Given the description of an element on the screen output the (x, y) to click on. 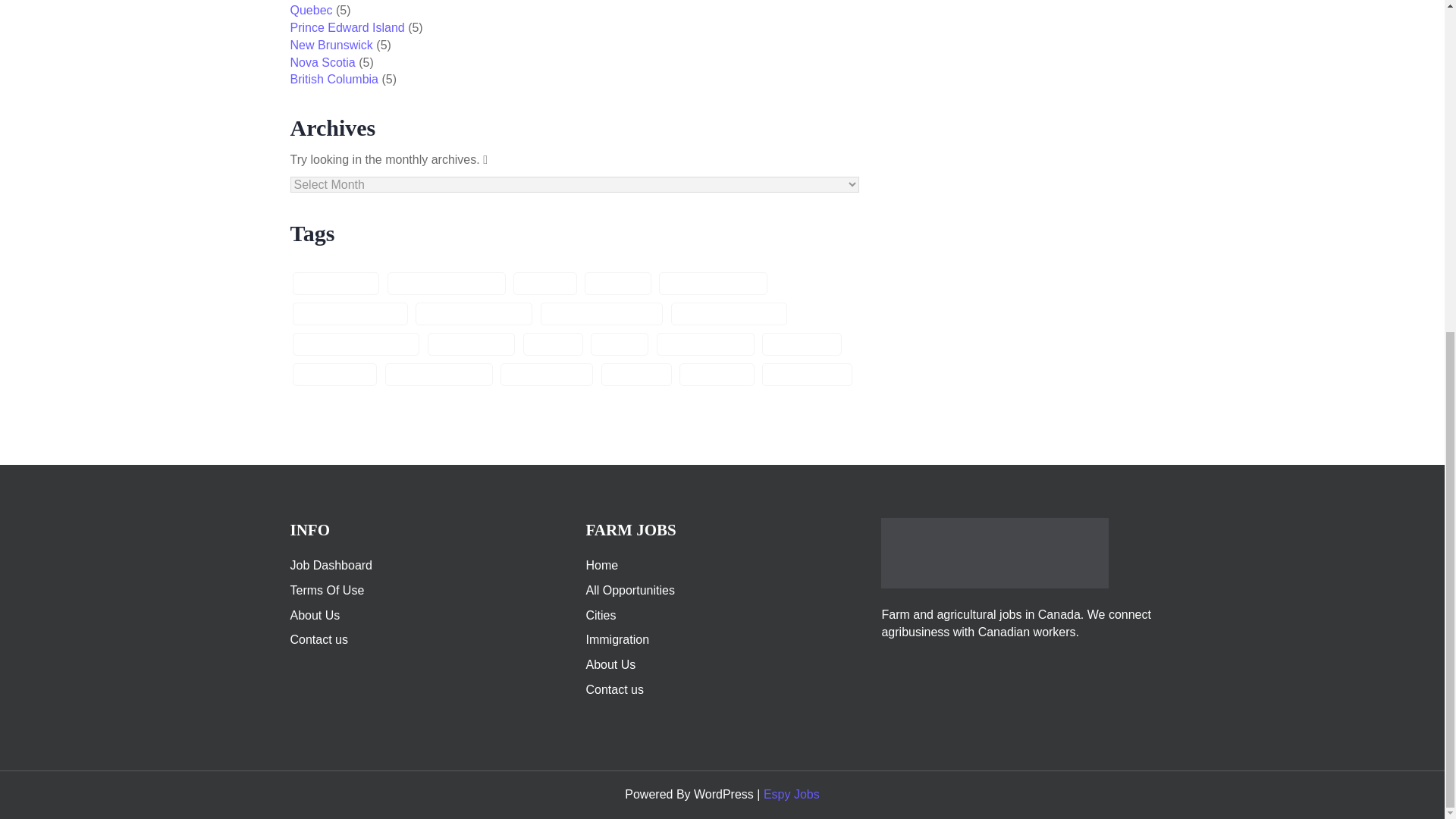
British Columbia (333, 78)
job offer (619, 343)
New Brunswick (330, 44)
farm jobs (544, 282)
immigration services (729, 313)
Nova Scotia (322, 62)
immigrant workforce (349, 313)
farm work (617, 282)
job application (471, 343)
immigration programs (601, 313)
